Given the description of an element on the screen output the (x, y) to click on. 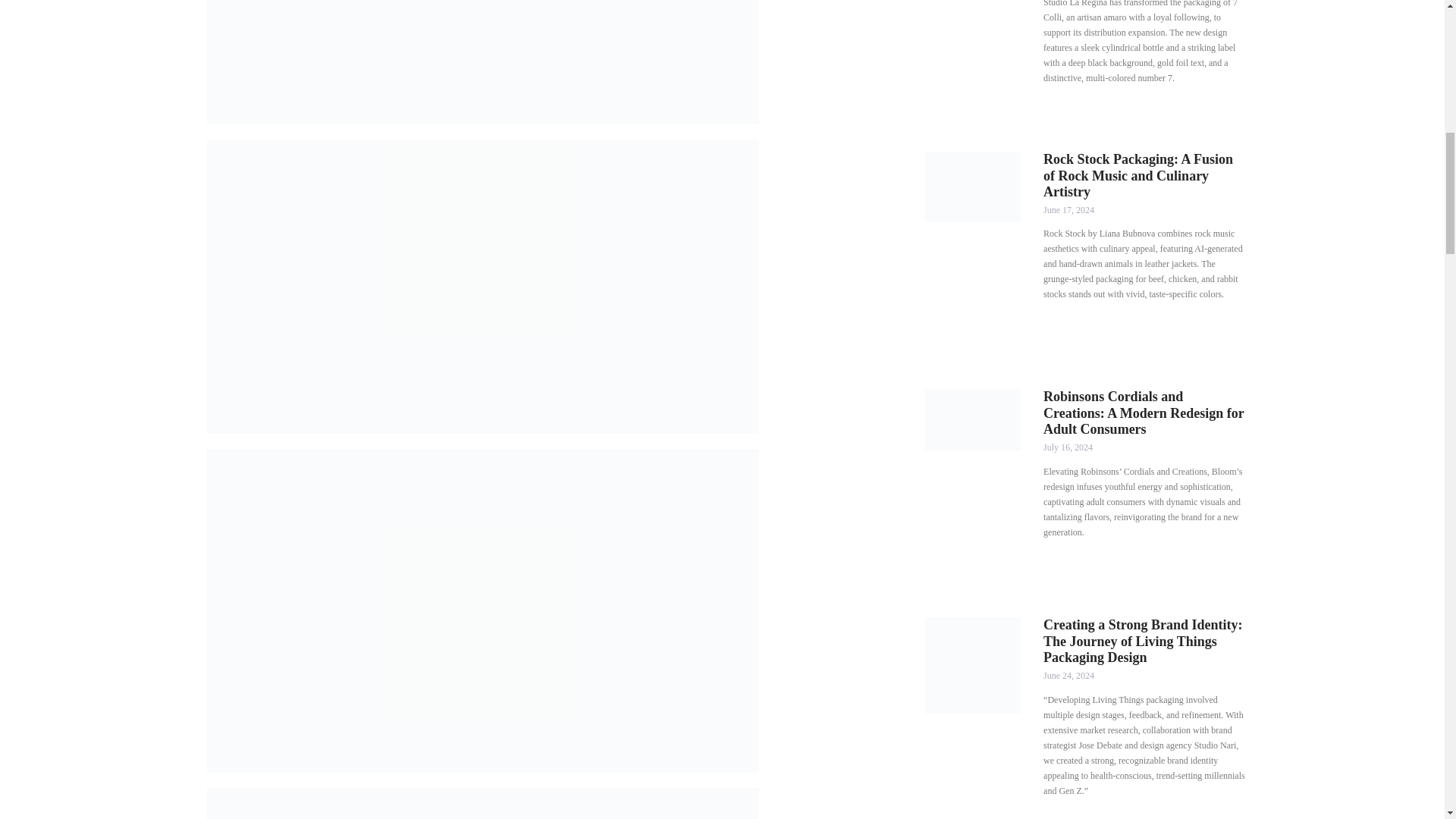
Packaging Design: ShakePlus Dietary Supplement (482, 62)
Packaging Design: ShakePlus Dietary Supplement (482, 803)
